Given the description of an element on the screen output the (x, y) to click on. 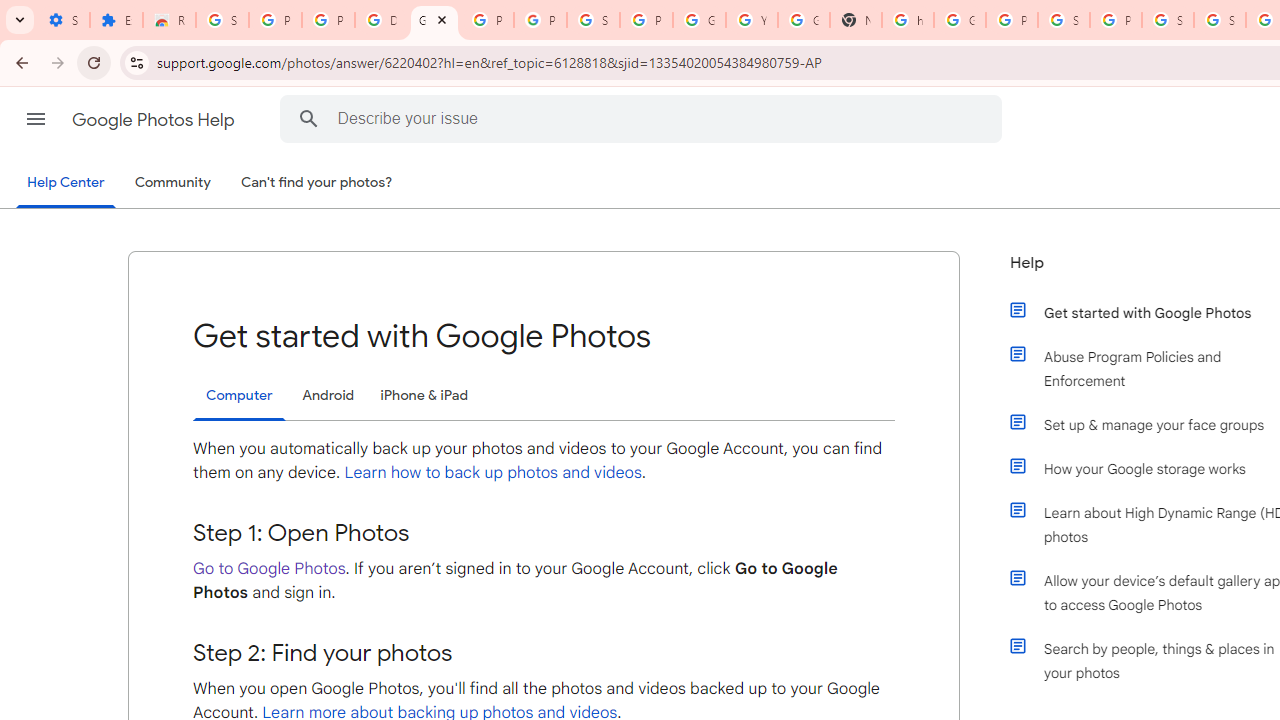
Can't find your photos? (317, 183)
Settings - On startup (63, 20)
Sign in - Google Accounts (593, 20)
YouTube (751, 20)
View site information (136, 62)
Google Account (699, 20)
Help Center (65, 183)
https://scholar.google.com/ (907, 20)
